Given the description of an element on the screen output the (x, y) to click on. 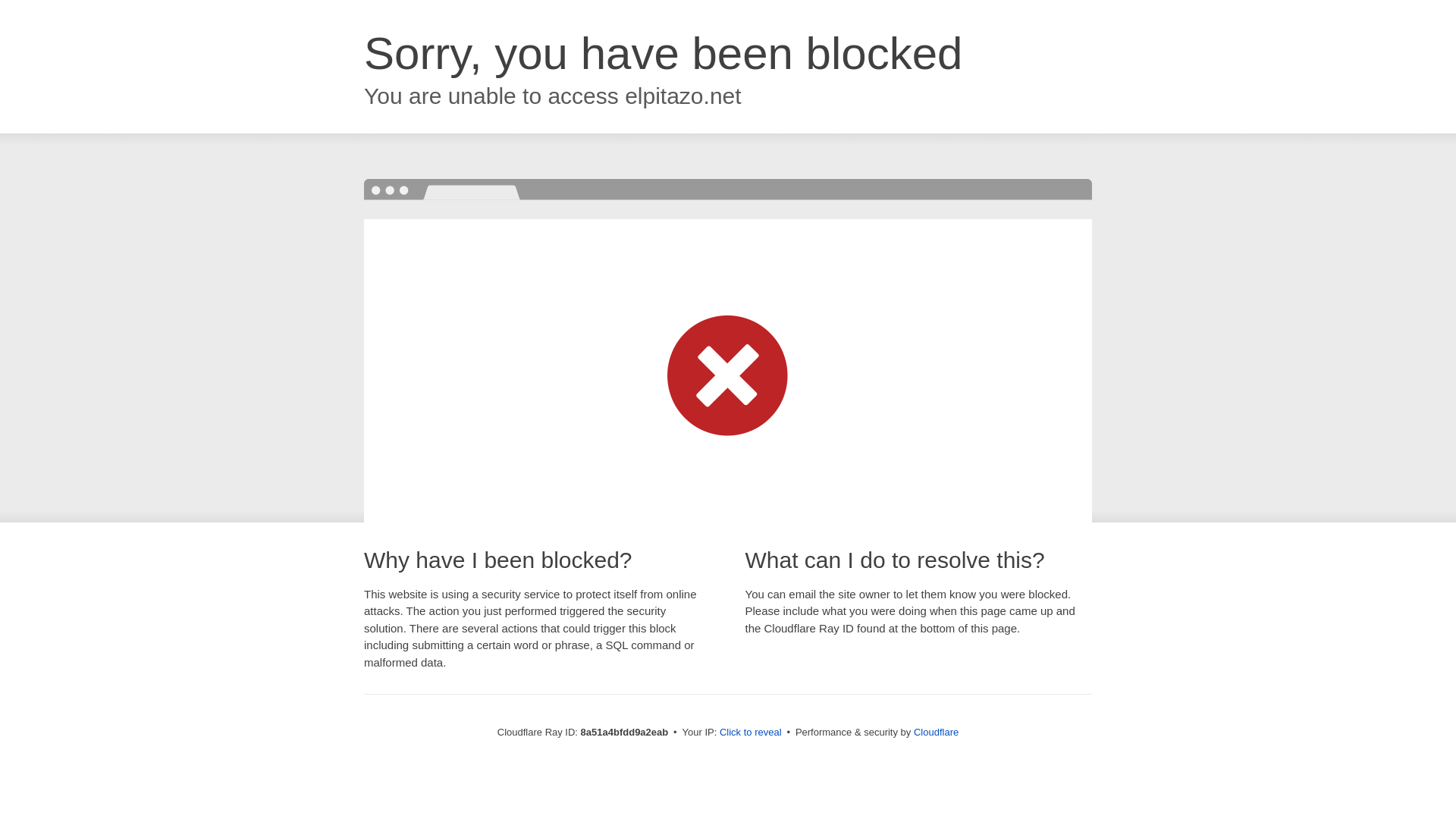
Click to reveal (750, 732)
Cloudflare (936, 731)
